Given the description of an element on the screen output the (x, y) to click on. 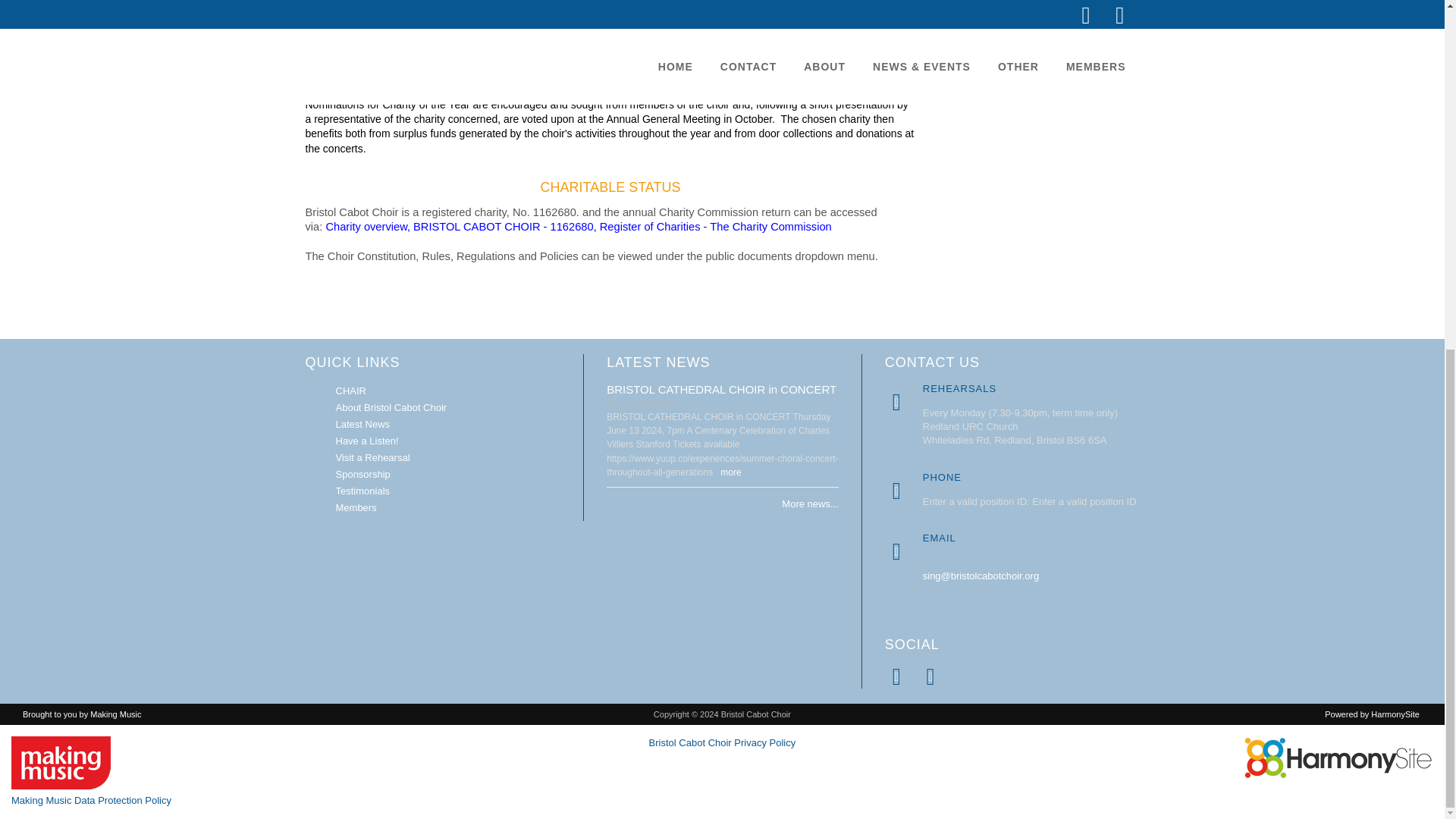
RSS Feeds (930, 676)
Brought to you by Making Music (60, 762)
Visit us on Facebook (896, 676)
Powered by HarmonySite (1337, 757)
